Given the description of an element on the screen output the (x, y) to click on. 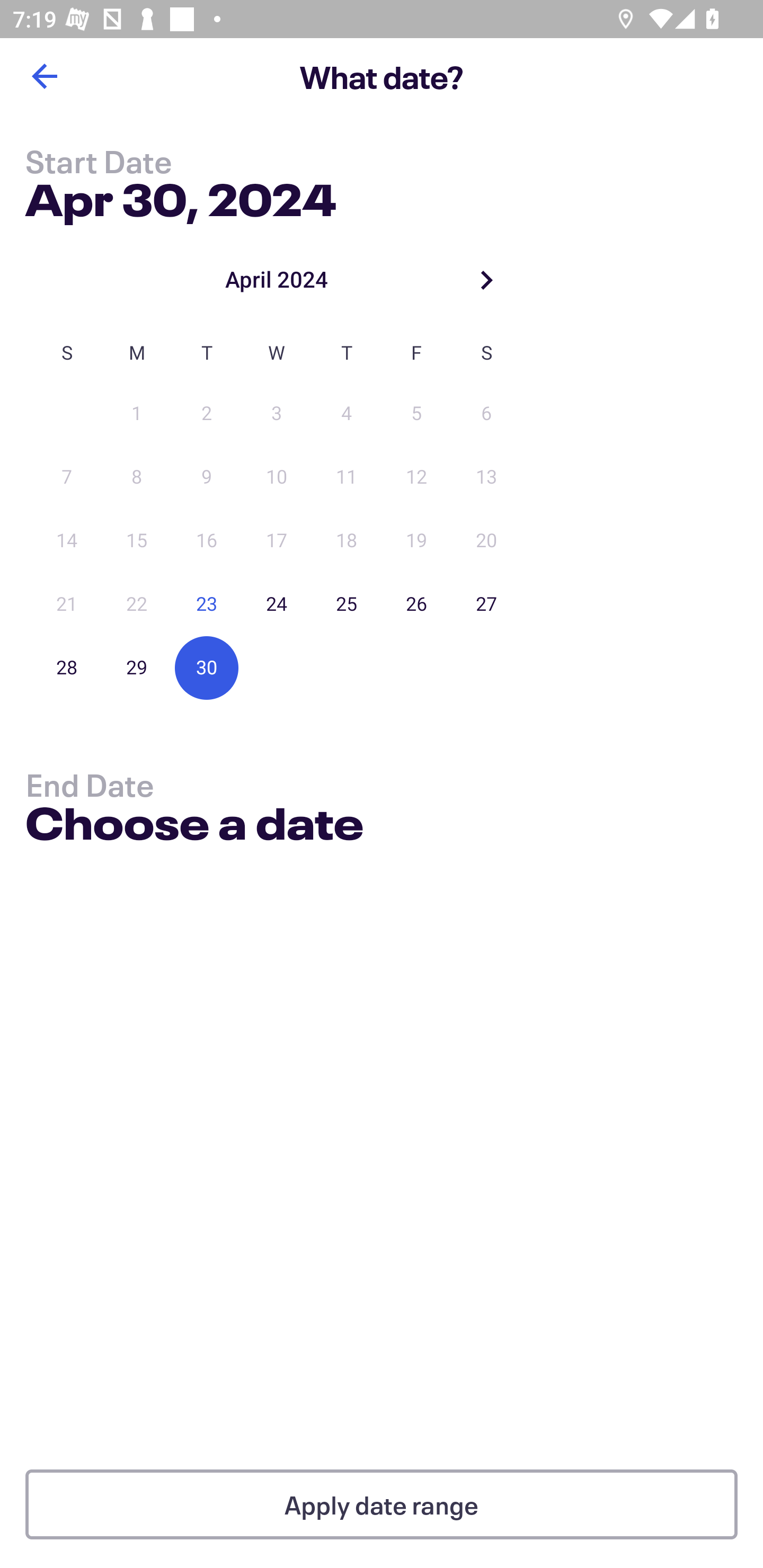
Back button (44, 75)
Apr 30, 2024 (180, 195)
Next month (486, 279)
1 01 April 2024 (136, 413)
2 02 April 2024 (206, 413)
3 03 April 2024 (276, 413)
4 04 April 2024 (346, 413)
5 05 April 2024 (416, 413)
6 06 April 2024 (486, 413)
7 07 April 2024 (66, 477)
8 08 April 2024 (136, 477)
9 09 April 2024 (206, 477)
10 10 April 2024 (276, 477)
11 11 April 2024 (346, 477)
12 12 April 2024 (416, 477)
13 13 April 2024 (486, 477)
14 14 April 2024 (66, 540)
15 15 April 2024 (136, 540)
16 16 April 2024 (206, 540)
17 17 April 2024 (276, 540)
18 18 April 2024 (346, 540)
19 19 April 2024 (416, 540)
20 20 April 2024 (486, 540)
21 21 April 2024 (66, 604)
22 22 April 2024 (136, 604)
23 23 April 2024 (206, 604)
24 24 April 2024 (276, 604)
25 25 April 2024 (346, 604)
26 26 April 2024 (416, 604)
27 27 April 2024 (486, 604)
28 28 April 2024 (66, 667)
29 29 April 2024 (136, 667)
30 30 April 2024 (206, 667)
Choose a date (194, 826)
Apply date range (381, 1504)
